Given the description of an element on the screen output the (x, y) to click on. 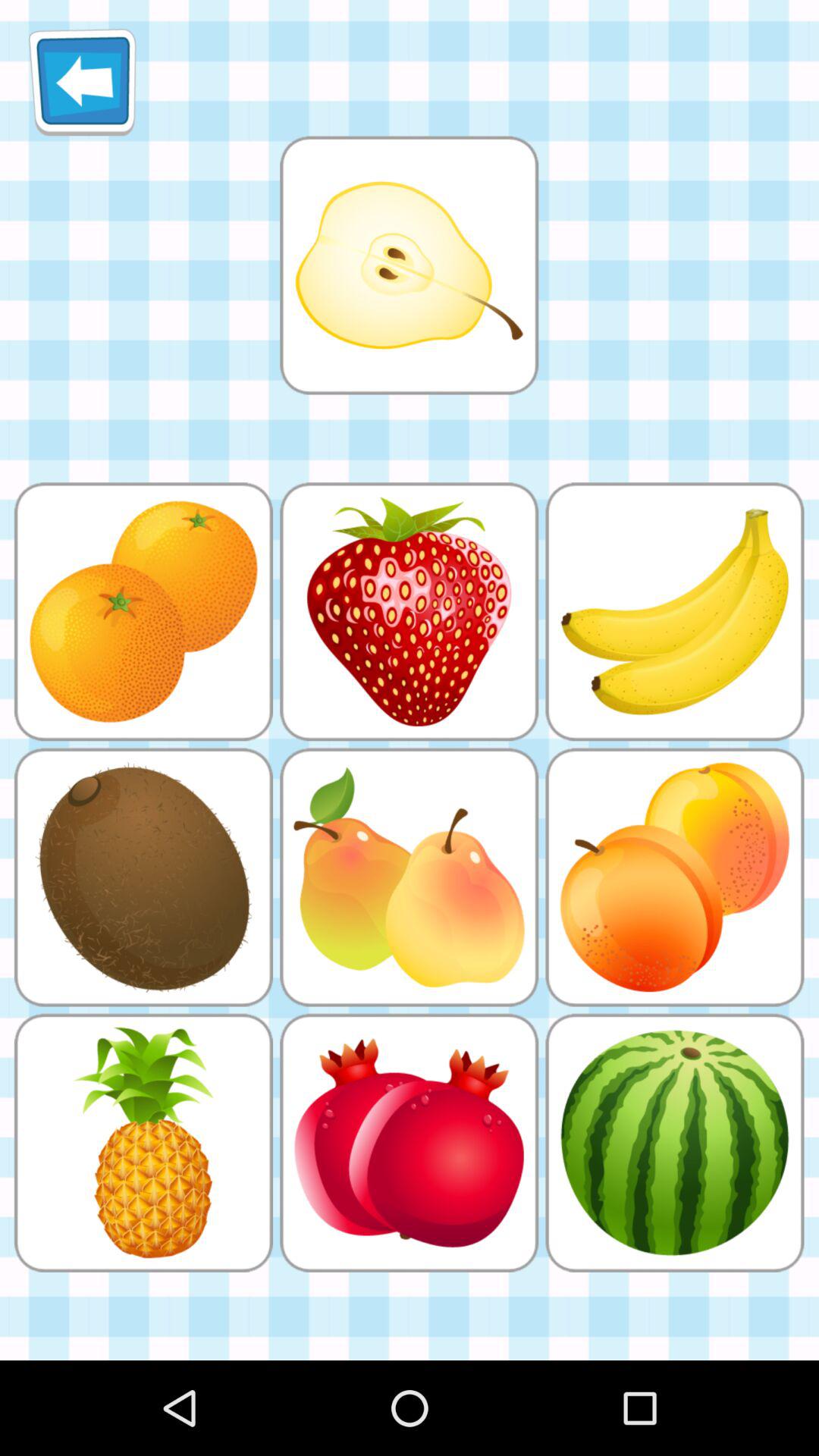
go to apple (409, 265)
